Given the description of an element on the screen output the (x, y) to click on. 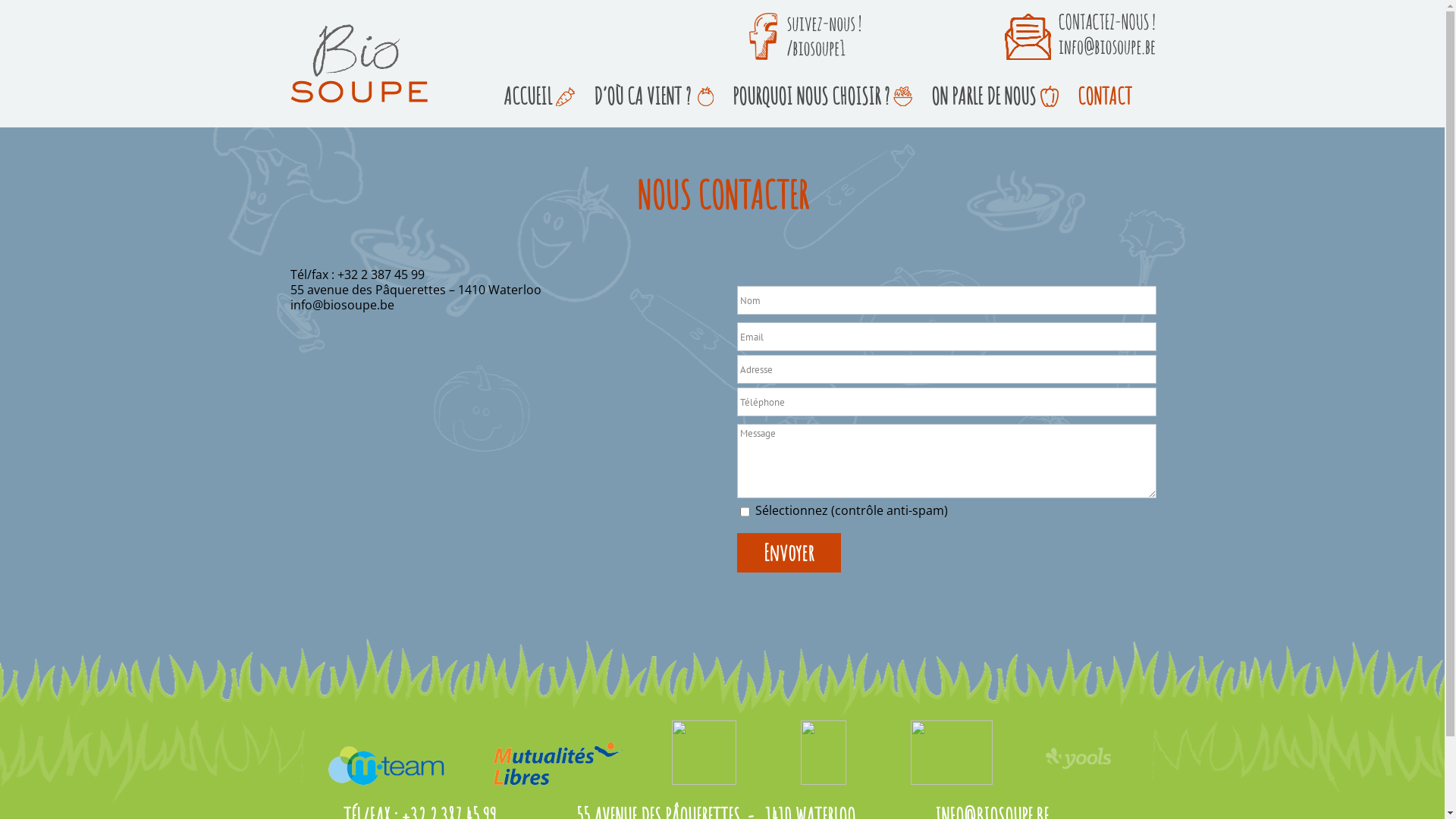
ON PARLE DE NOUS Element type: text (982, 95)
ACCUEIL Element type: text (526, 95)
Yools Website Design Element type: hover (1077, 757)
CONTACT Element type: text (1104, 95)
Envoyer Element type: text (788, 552)
POURQUOI NOUS CHOISIR ? Element type: text (809, 95)
